Given the description of an element on the screen output the (x, y) to click on. 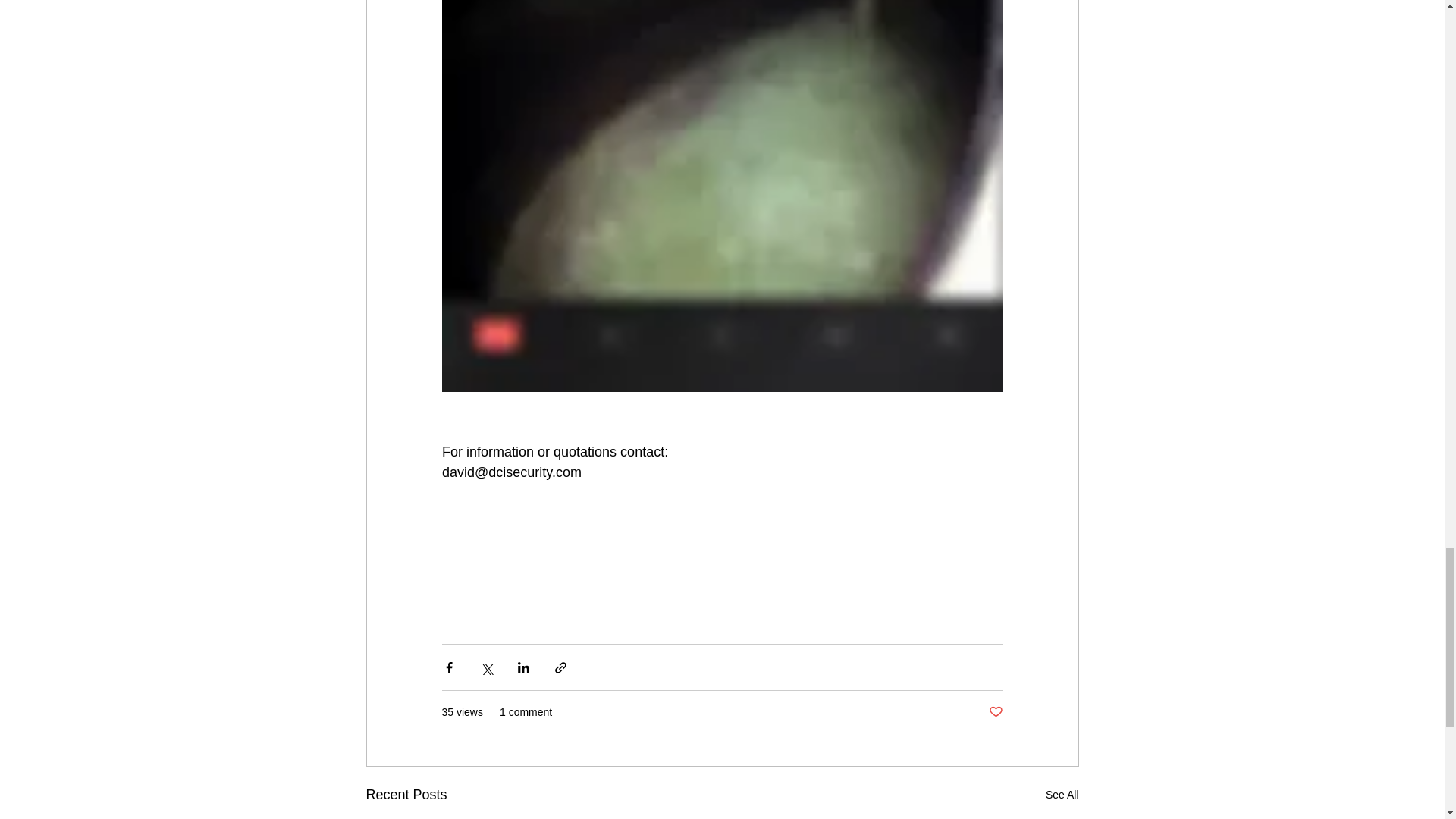
Post not marked as liked (995, 712)
See All (1061, 794)
